Given the description of an element on the screen output the (x, y) to click on. 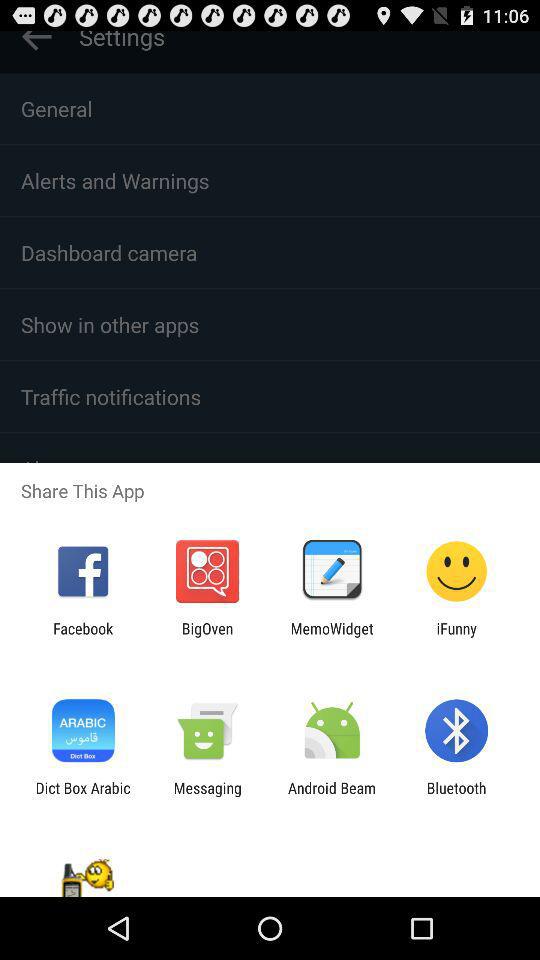
tap the icon to the right of android beam app (456, 796)
